Given the description of an element on the screen output the (x, y) to click on. 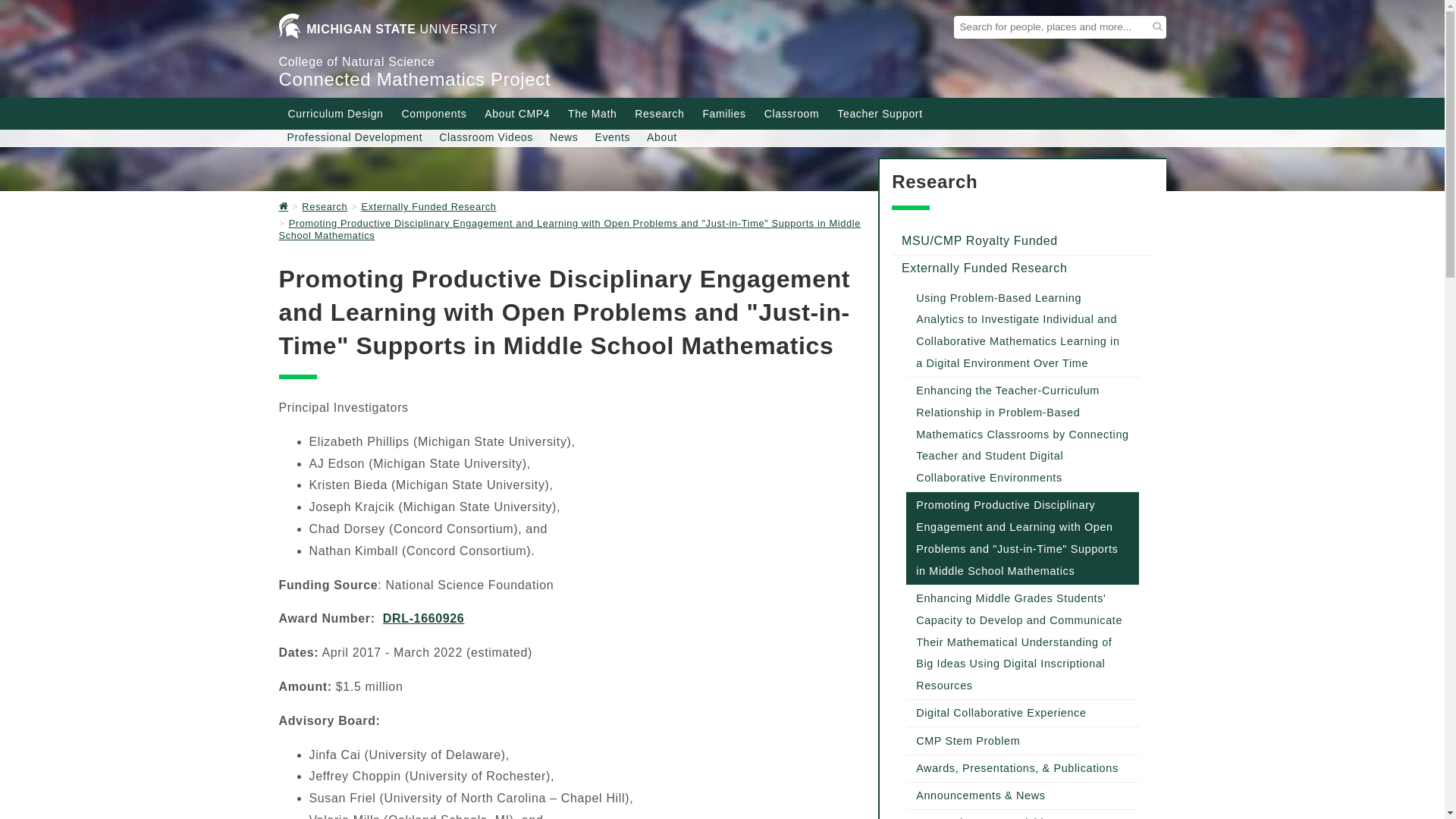
College of Natural Science (357, 61)
The Math (592, 113)
Components (434, 113)
About CMP4 (517, 113)
Curriculum Design (336, 113)
MICHIGAN STATE UNIVERSITY (388, 32)
Connected Mathematics Project (415, 78)
Site Name (415, 78)
